Given the description of an element on the screen output the (x, y) to click on. 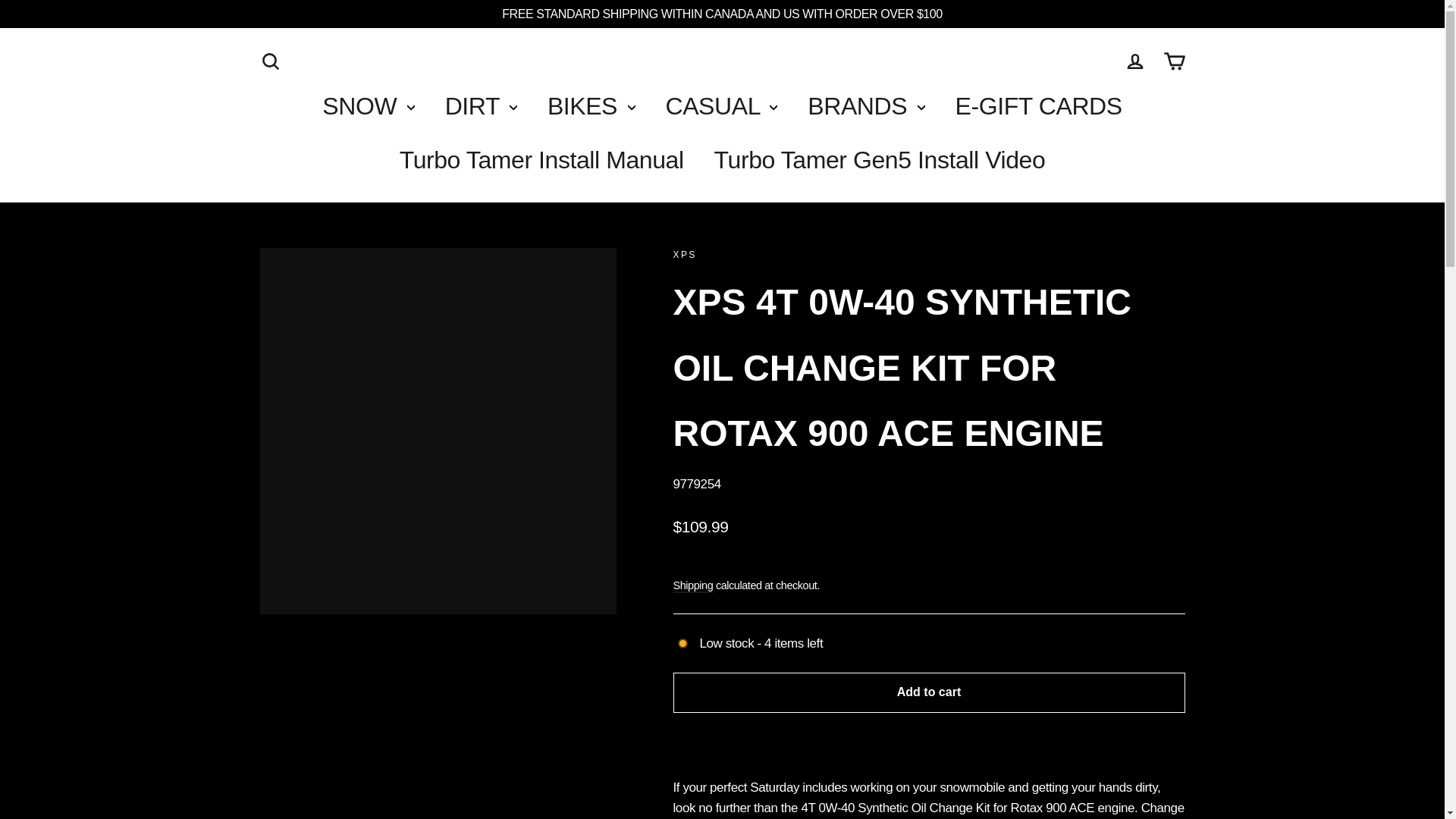
XPS (684, 254)
